Given the description of an element on the screen output the (x, y) to click on. 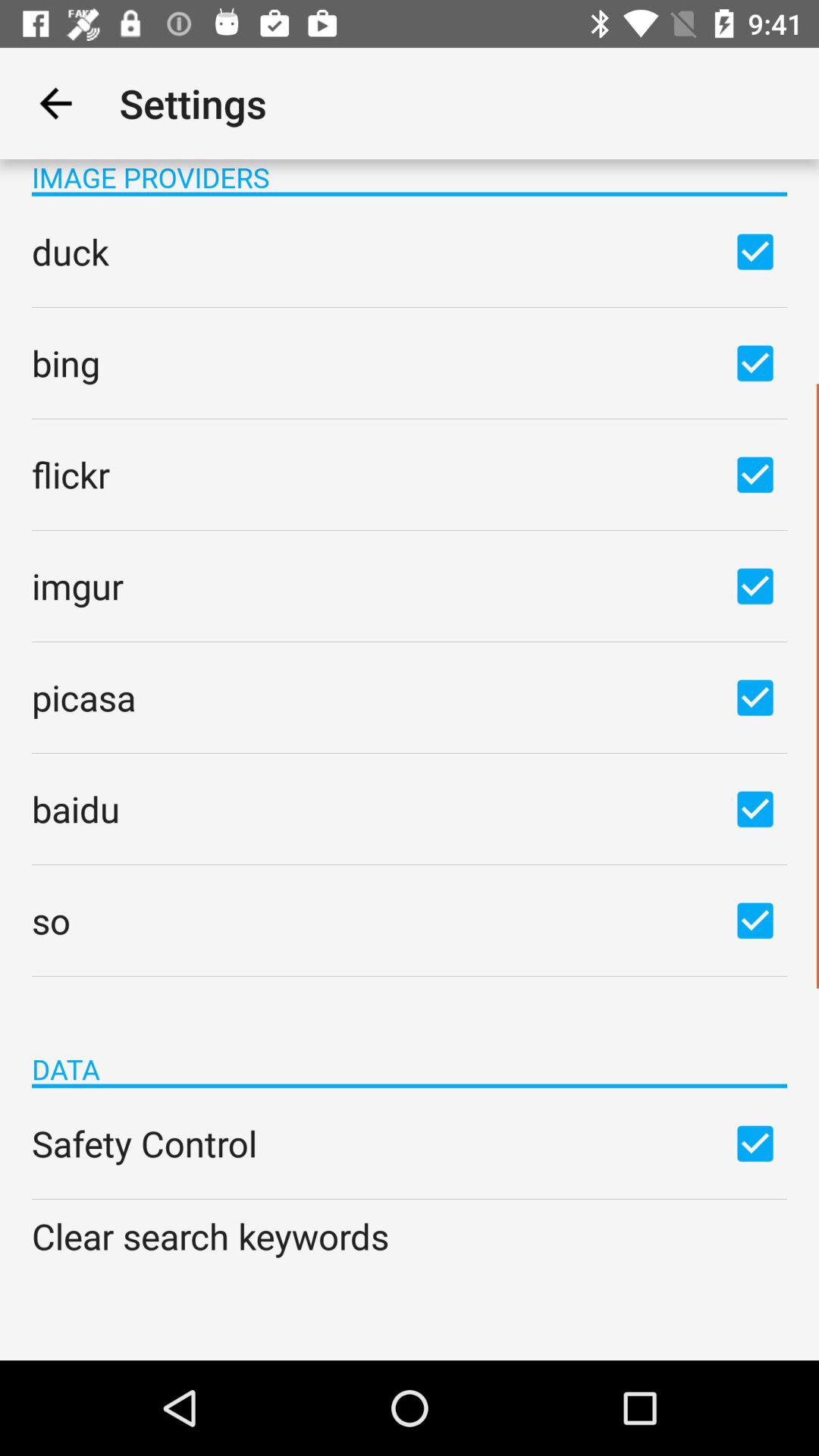
go back (55, 103)
